Given the description of an element on the screen output the (x, y) to click on. 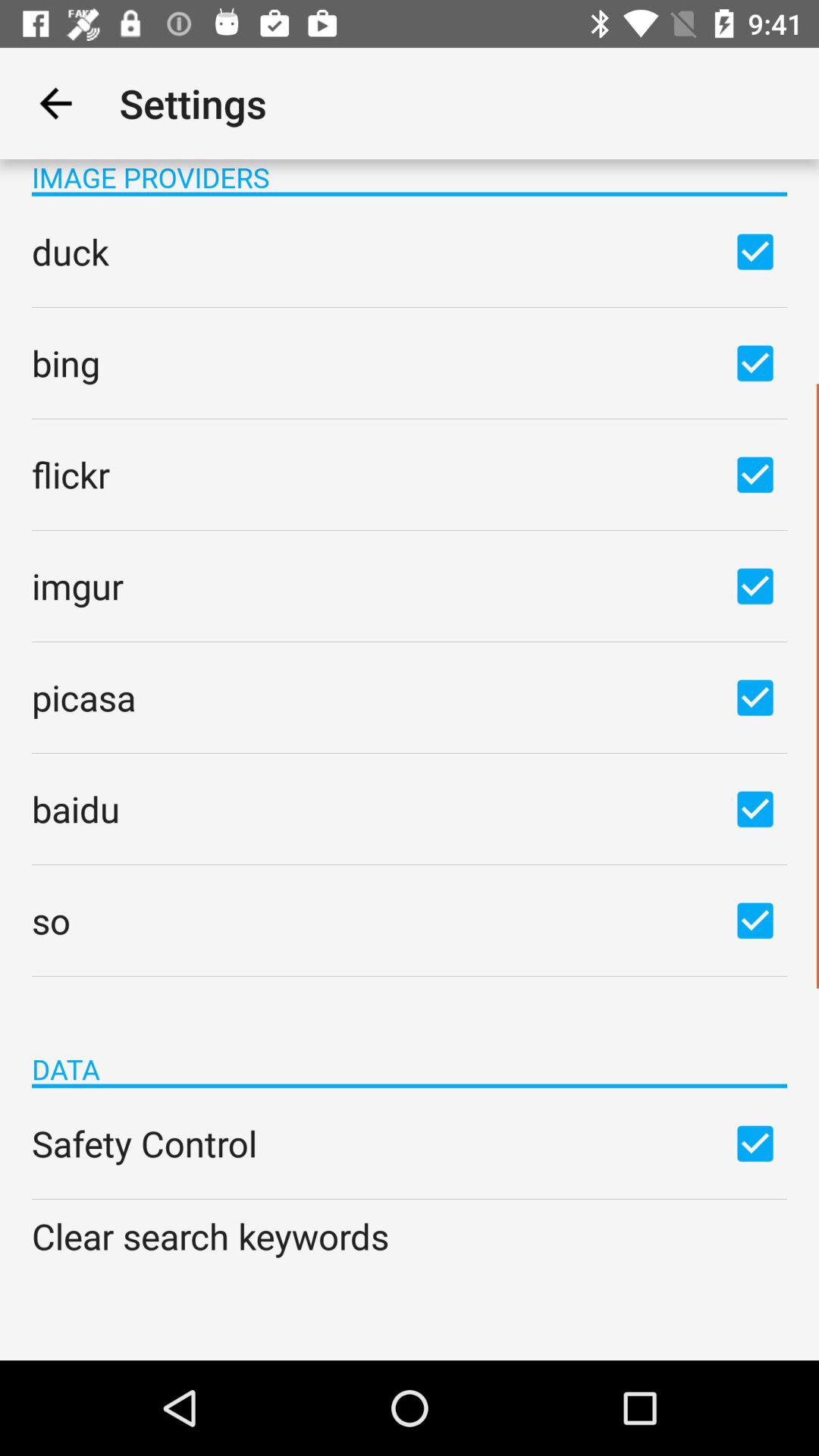
go back (55, 103)
